Given the description of an element on the screen output the (x, y) to click on. 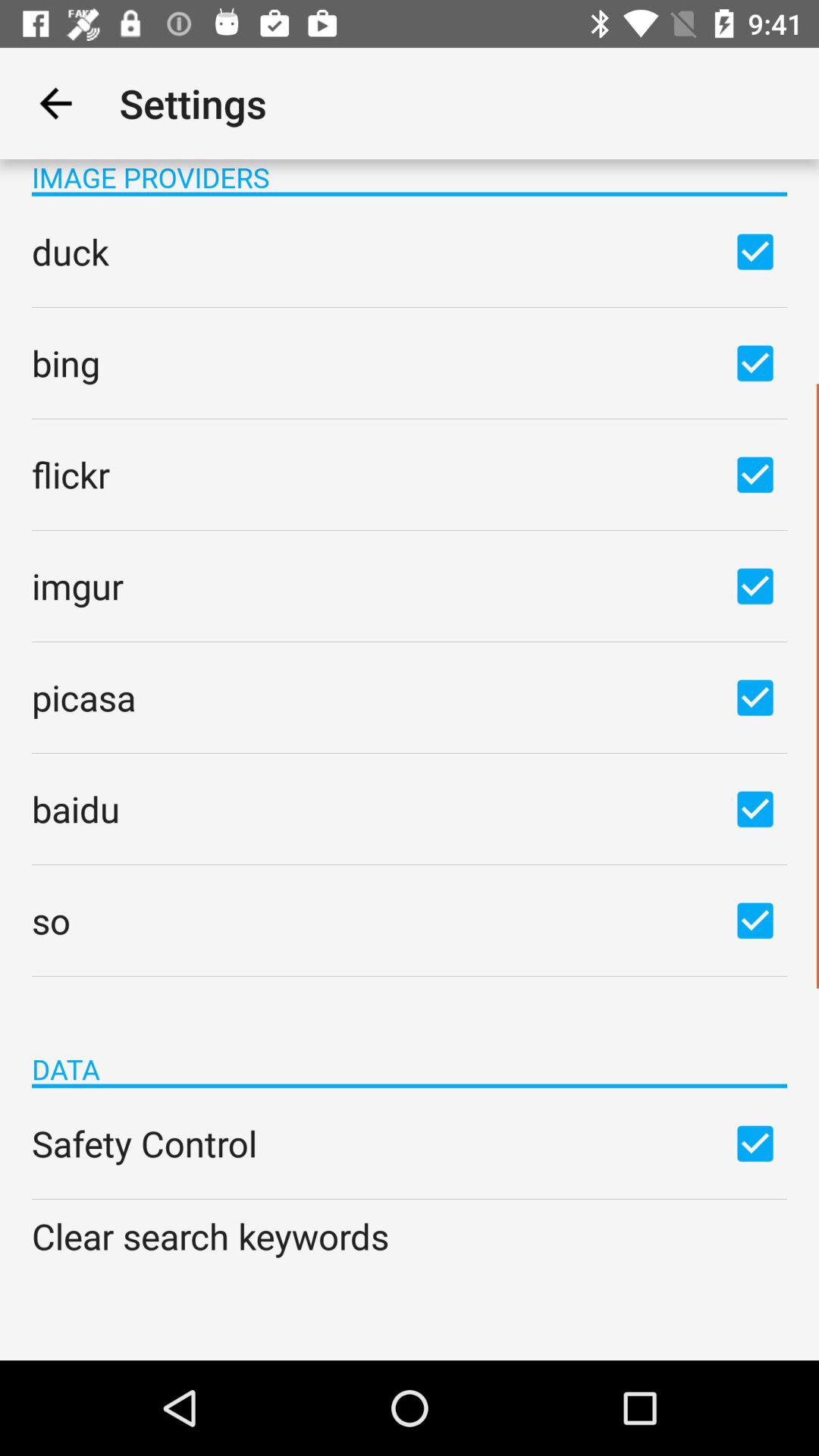
go back (55, 103)
